Given the description of an element on the screen output the (x, y) to click on. 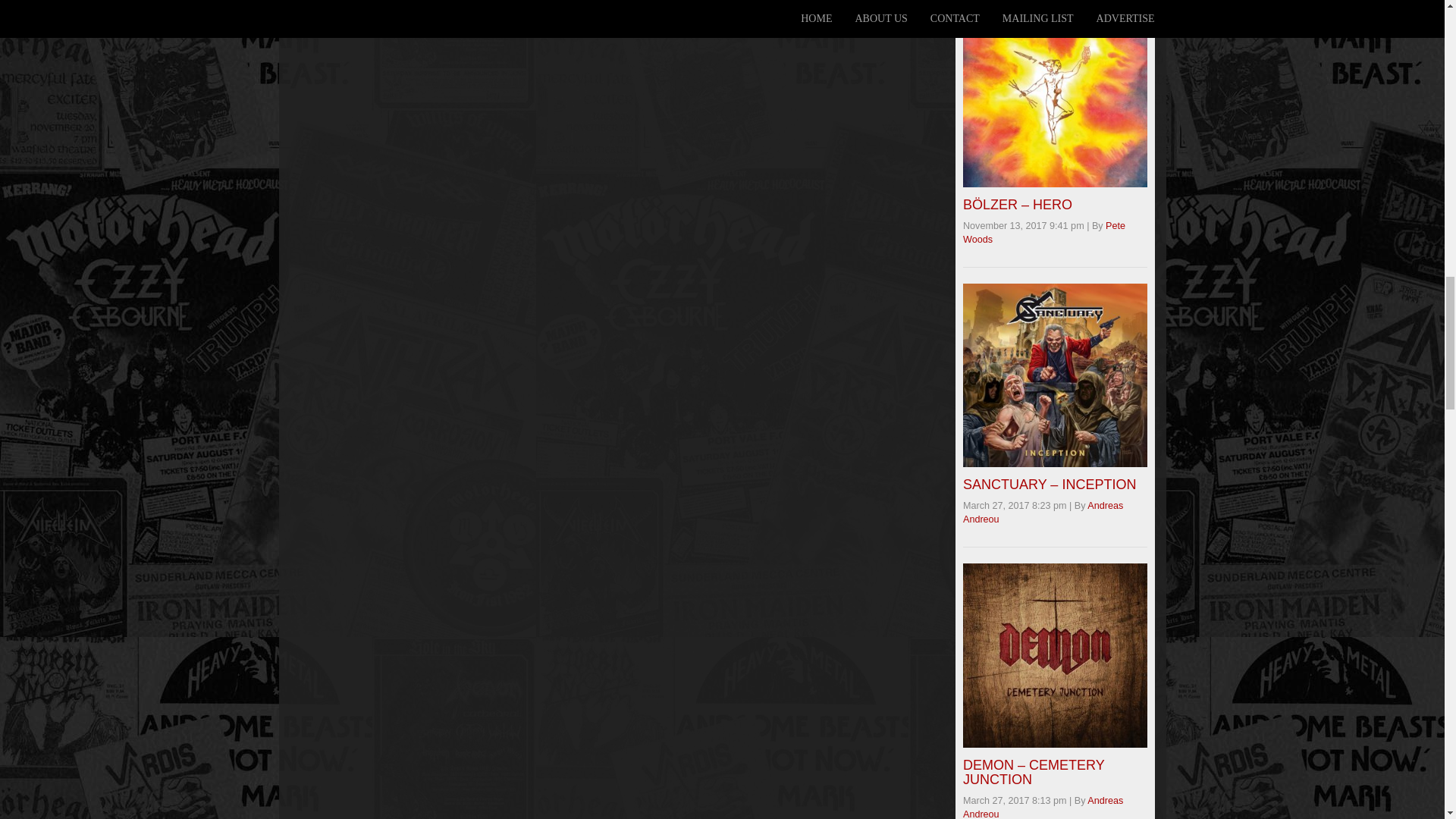
Pete Woods (1043, 232)
